Given the description of an element on the screen output the (x, y) to click on. 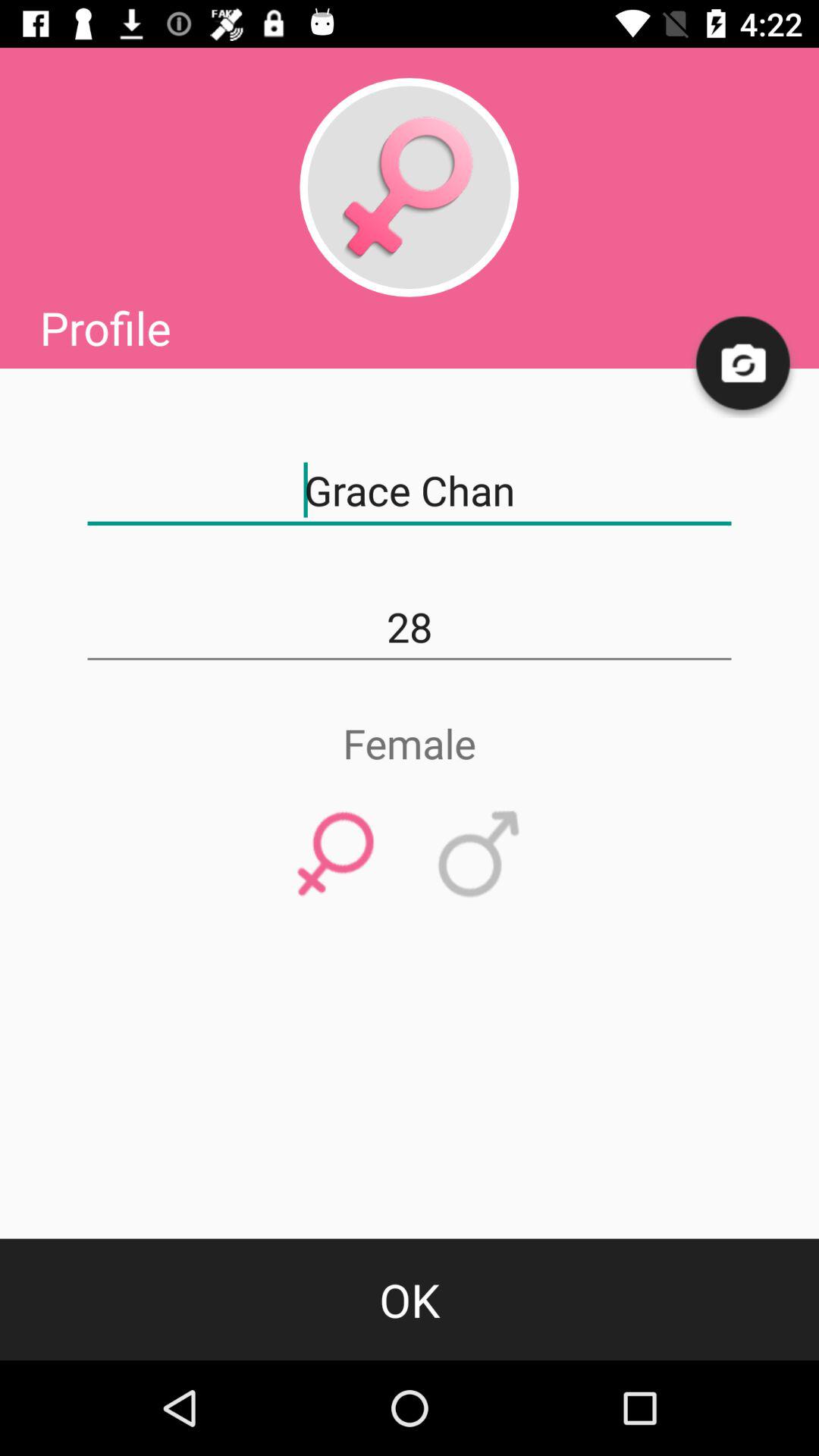
turn on the icon at the top right corner (744, 364)
